Given the description of an element on the screen output the (x, y) to click on. 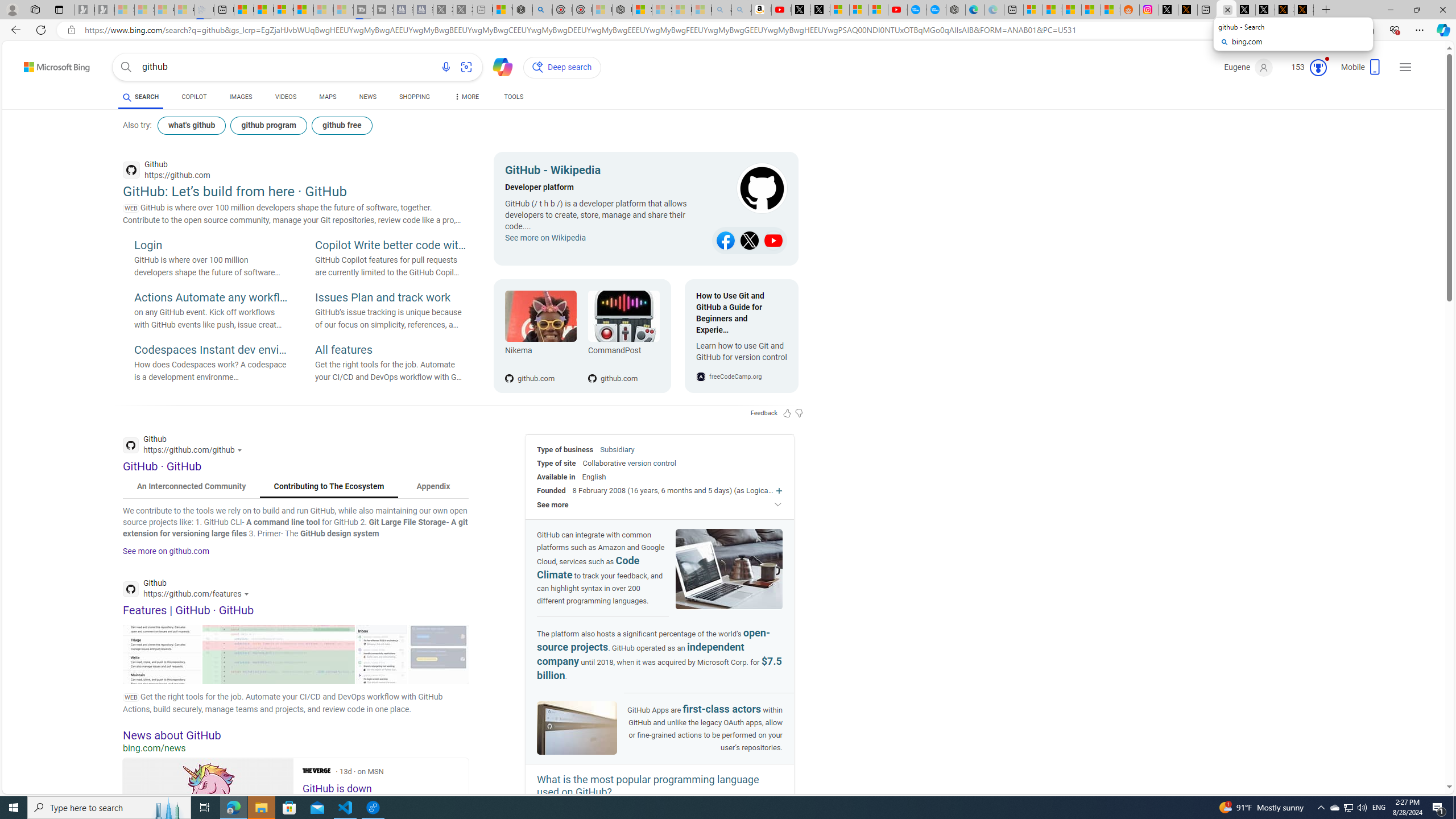
Microsoft Start - Sleeping (322, 9)
COPILOT (193, 96)
github free (341, 125)
View details (437, 653)
View details (437, 653)
Microsoft account | Microsoft Account Privacy Settings (1033, 9)
CommandPost (623, 315)
Contributing to The Ecosystem (328, 486)
IMAGES (240, 96)
Mobile (1361, 70)
